Given the description of an element on the screen output the (x, y) to click on. 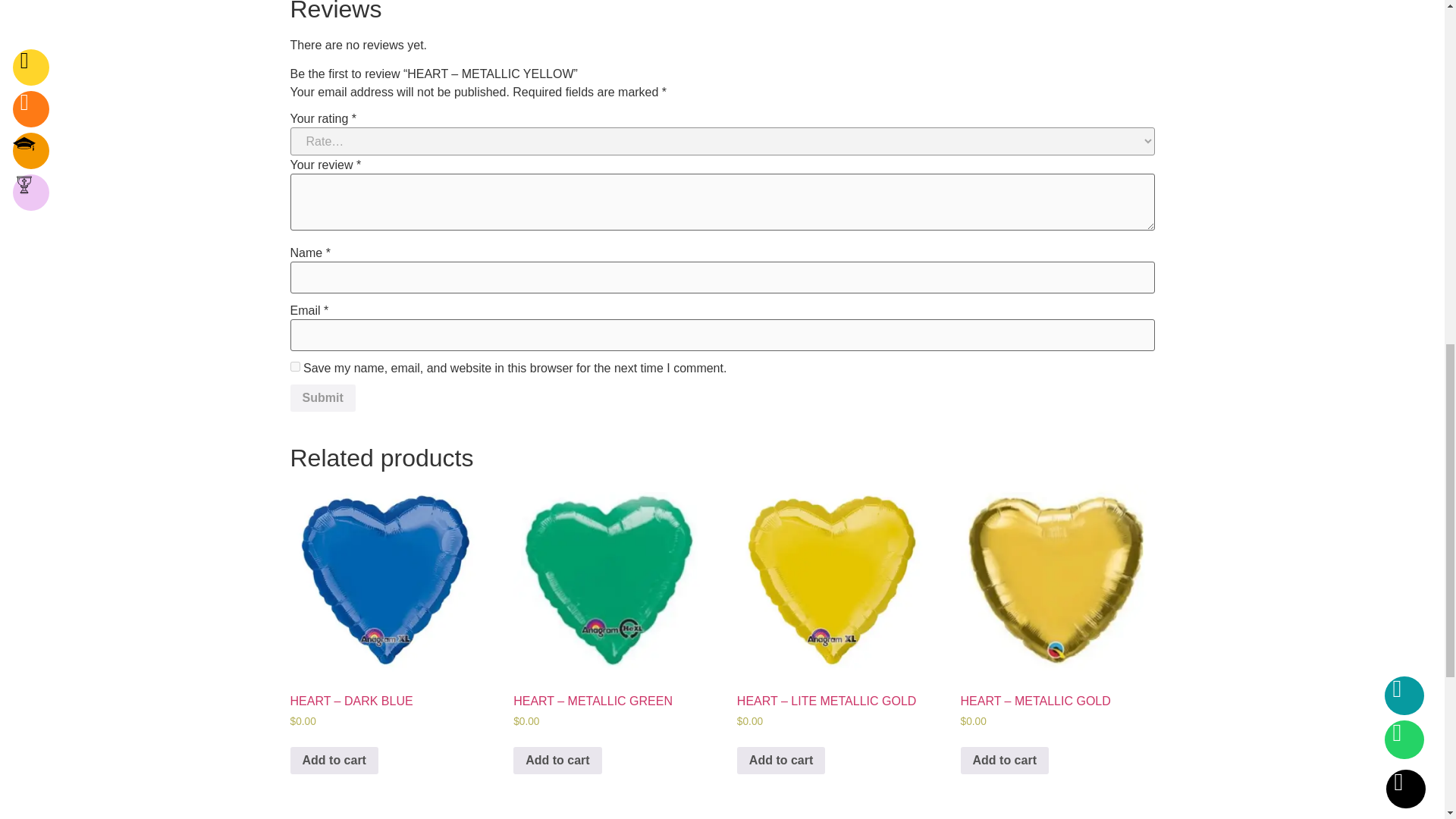
Add to cart (780, 759)
yes (294, 366)
Add to cart (333, 759)
Submit (322, 397)
Add to cart (557, 759)
Add to cart (1004, 759)
Submit (322, 397)
